Given the description of an element on the screen output the (x, y) to click on. 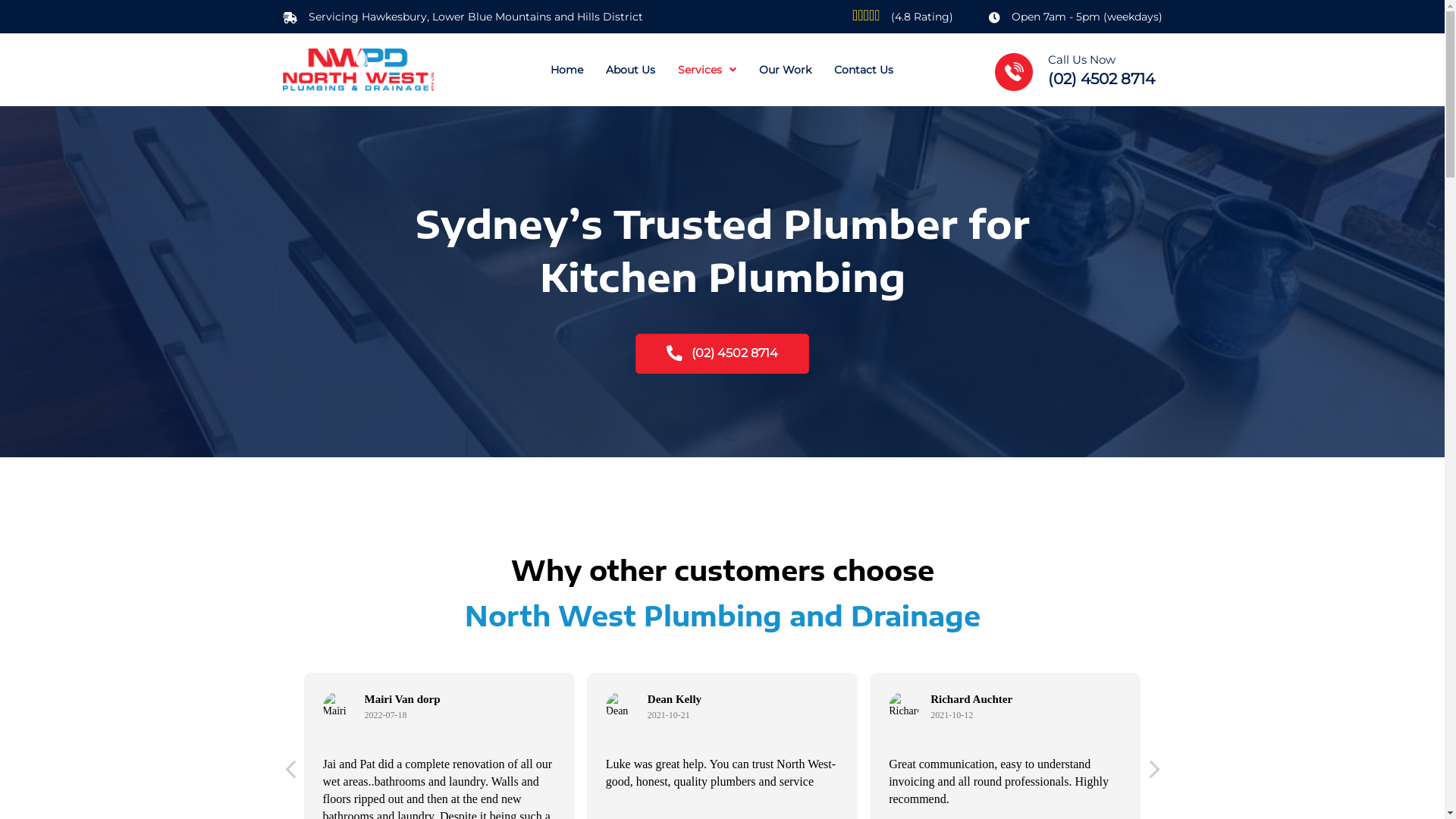
logo Element type: hover (357, 69)
(02) 4502 8714 Element type: text (722, 353)
Services Element type: text (706, 69)
Home Element type: text (566, 69)
Our Work Element type: text (785, 69)
About Us Element type: text (630, 69)
call (3) Element type: hover (1013, 72)
Contact Us Element type: text (863, 69)
